Given the description of an element on the screen output the (x, y) to click on. 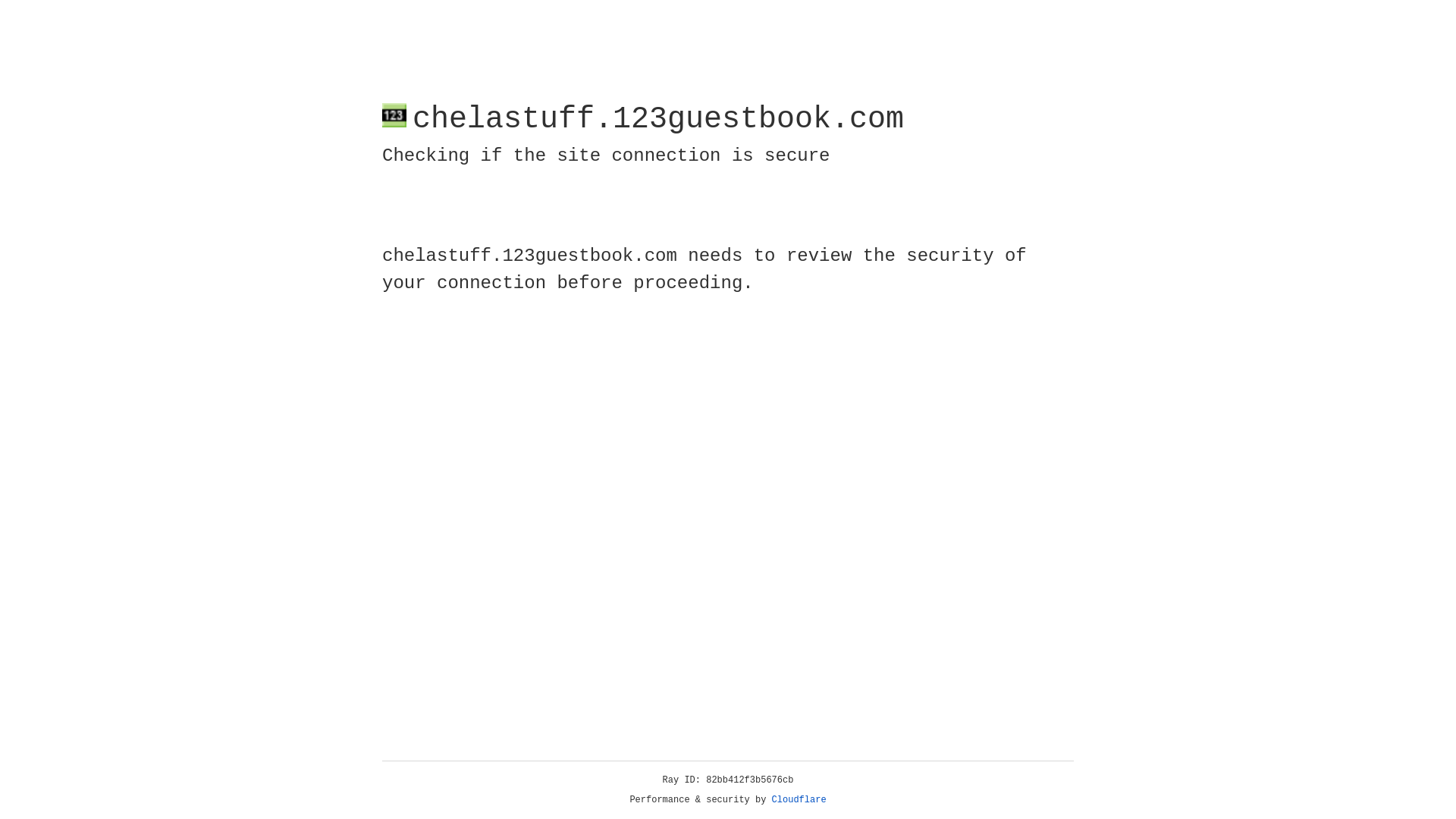
Cloudflare Element type: text (798, 799)
